Given the description of an element on the screen output the (x, y) to click on. 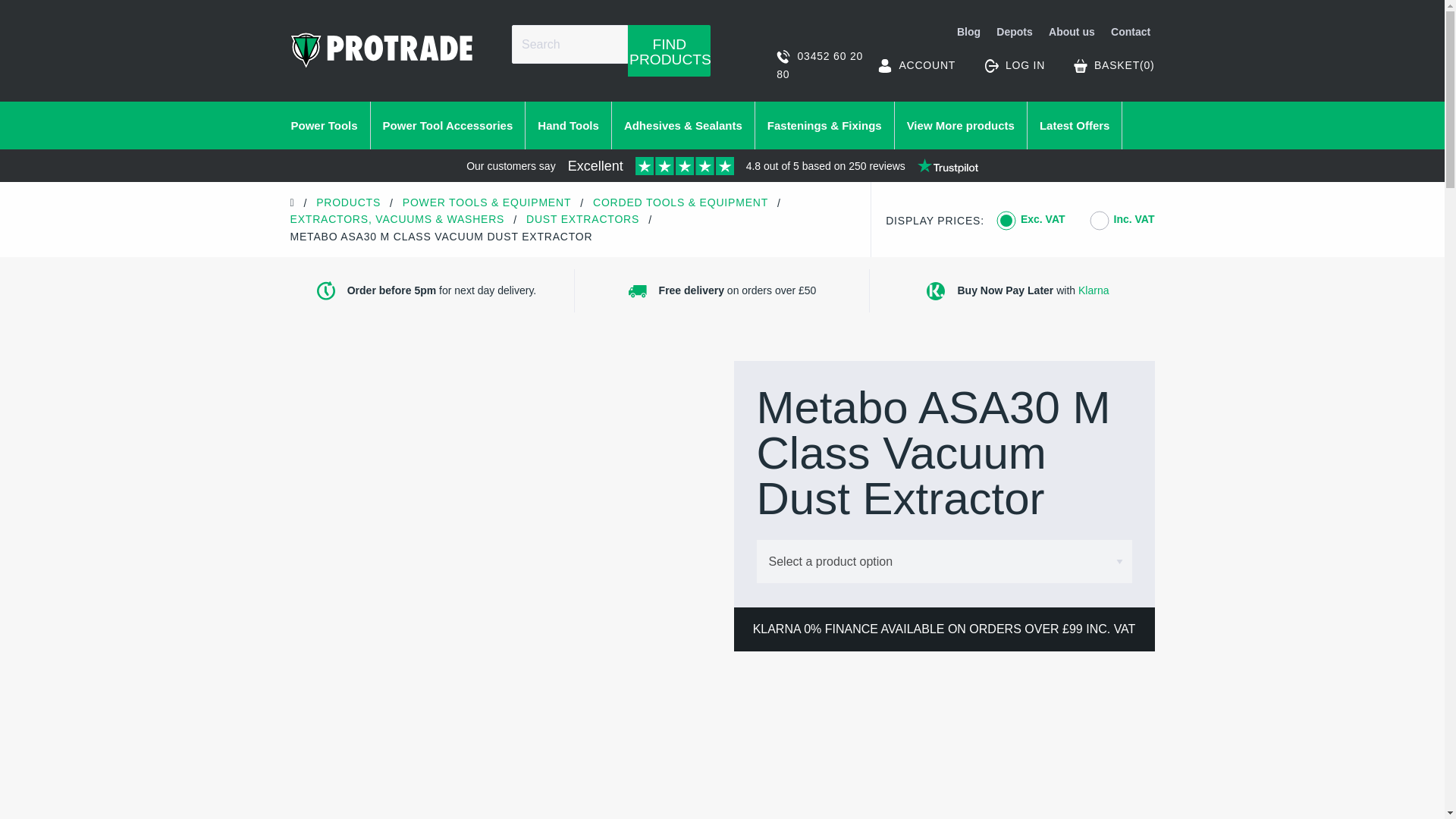
ACCOUNT (916, 65)
View Basket (1114, 65)
FIND PRODUCTS (668, 50)
About us (1072, 32)
03452 60 20 80 (821, 64)
Products. (347, 202)
Depots (1014, 32)
Blog (969, 32)
Contact (1128, 32)
Dust Extractors. (582, 218)
Customer reviews powered by Trustpilot (722, 167)
